Given the description of an element on the screen output the (x, y) to click on. 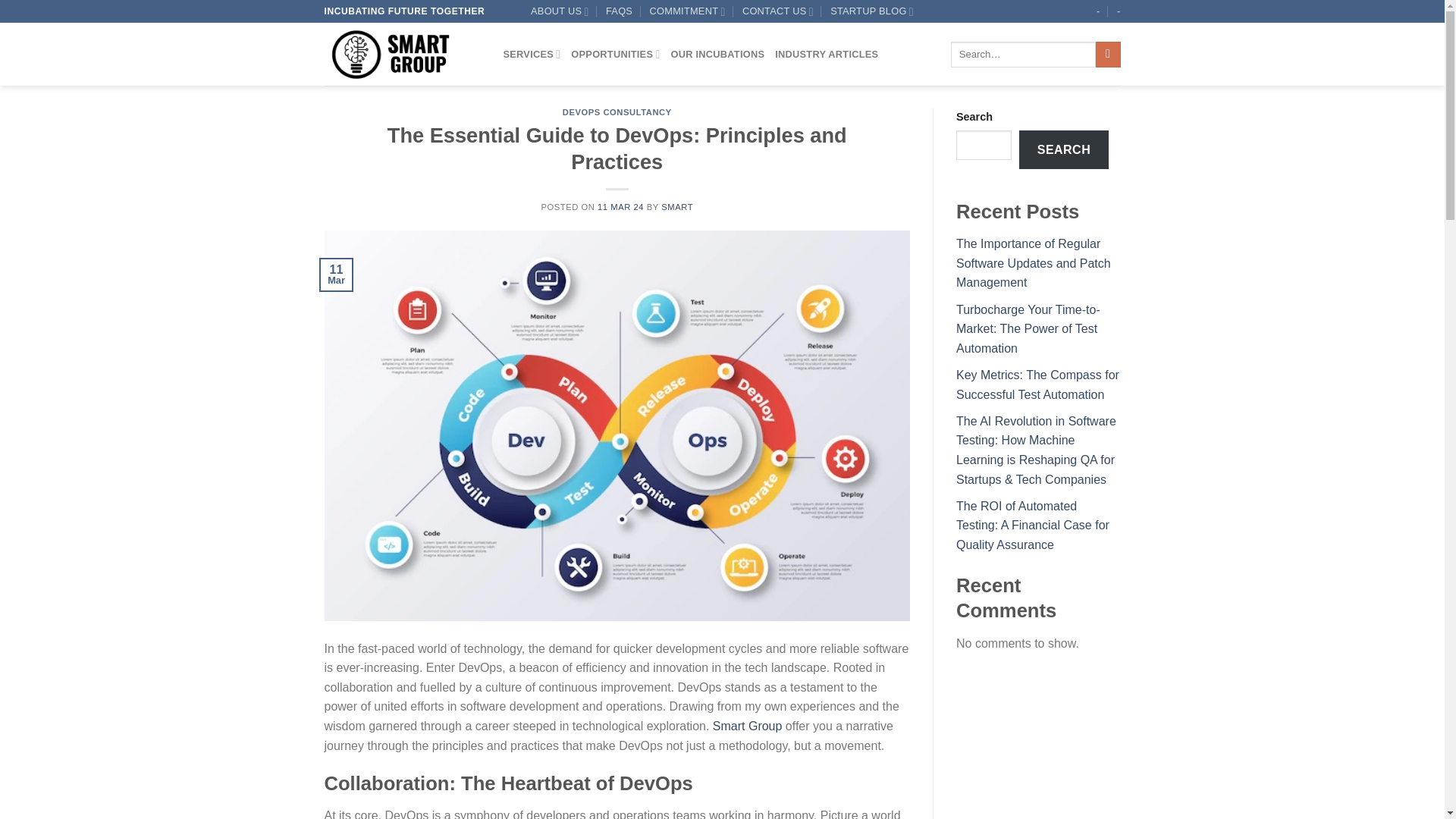
Smart Group India - Incubating Future Together (402, 53)
FAQS (618, 11)
OPPORTUNITIES (614, 54)
COMMITMENT (687, 11)
SERVICES (531, 54)
ABOUT US (560, 11)
CONTACT US (777, 11)
STARTUP BLOG (871, 11)
